Given the description of an element on the screen output the (x, y) to click on. 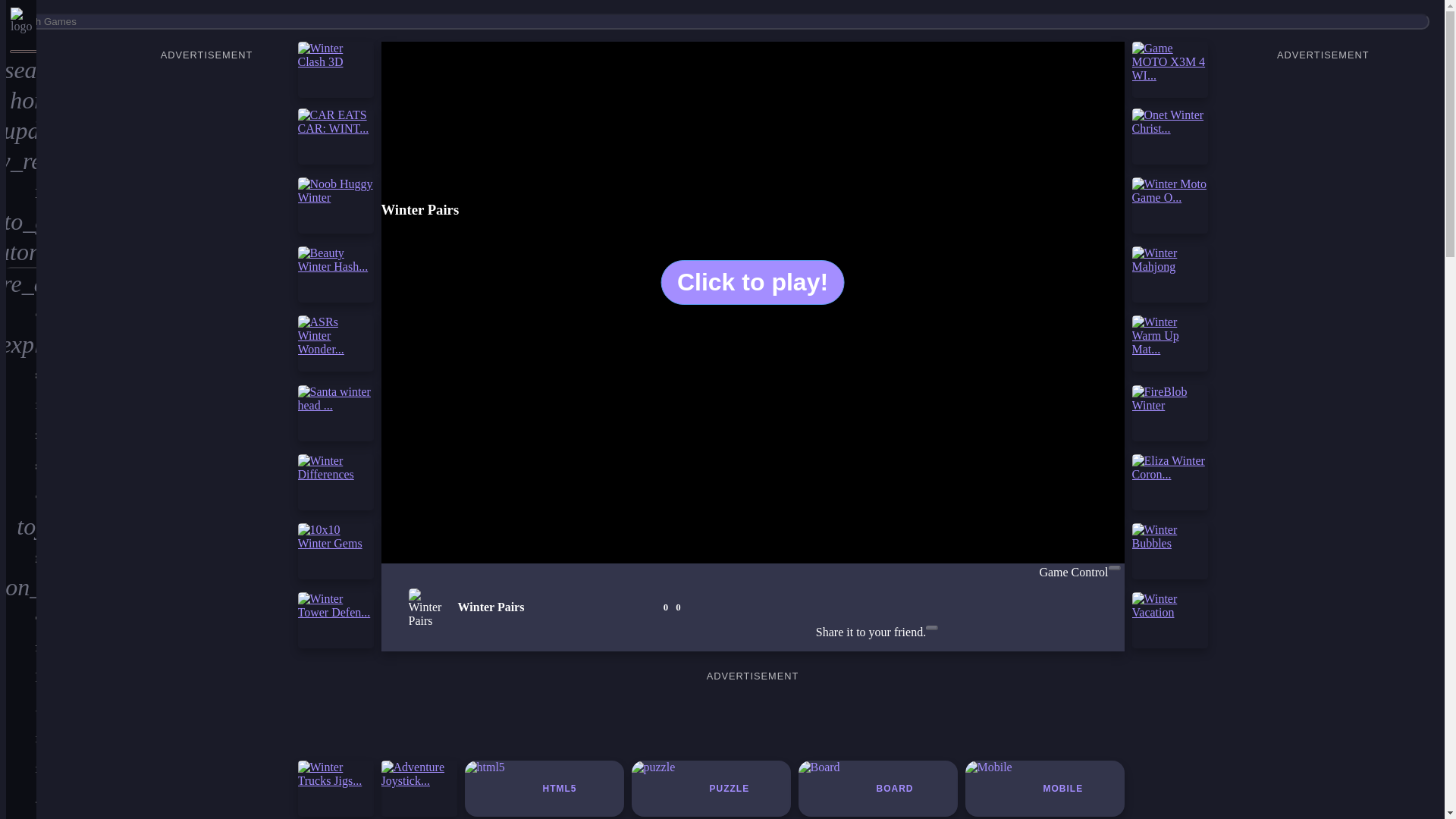
stickman (20, 465)
dress up (20, 313)
multiplayer (20, 768)
popular games (20, 191)
puzzle (20, 816)
update (20, 130)
autorenew (20, 252)
2 player (20, 798)
search (20, 69)
explore (20, 344)
